Given the description of an element on the screen output the (x, y) to click on. 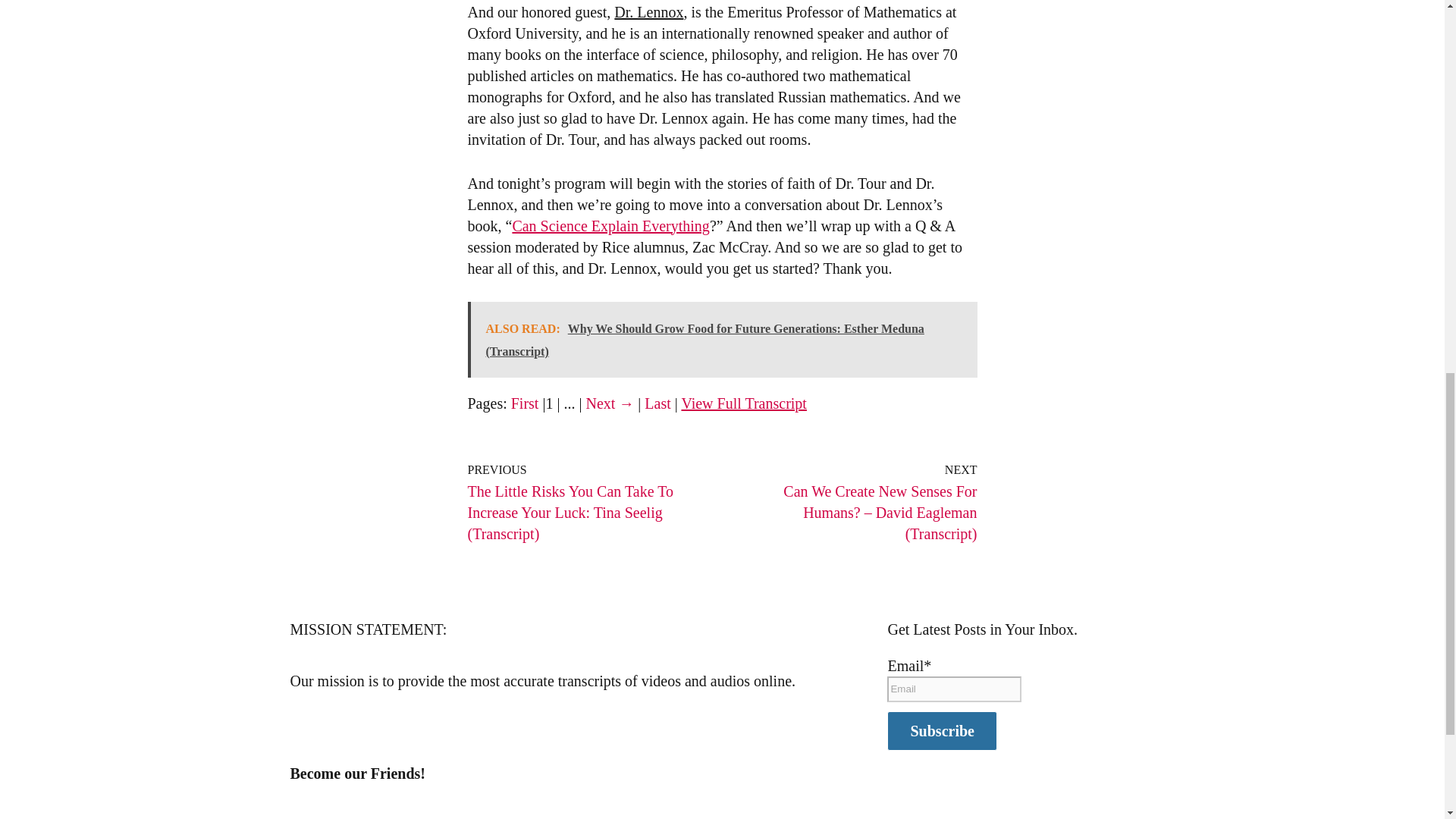
Subscribe (940, 731)
Can Science Explain Everything (610, 225)
